Given the description of an element on the screen output the (x, y) to click on. 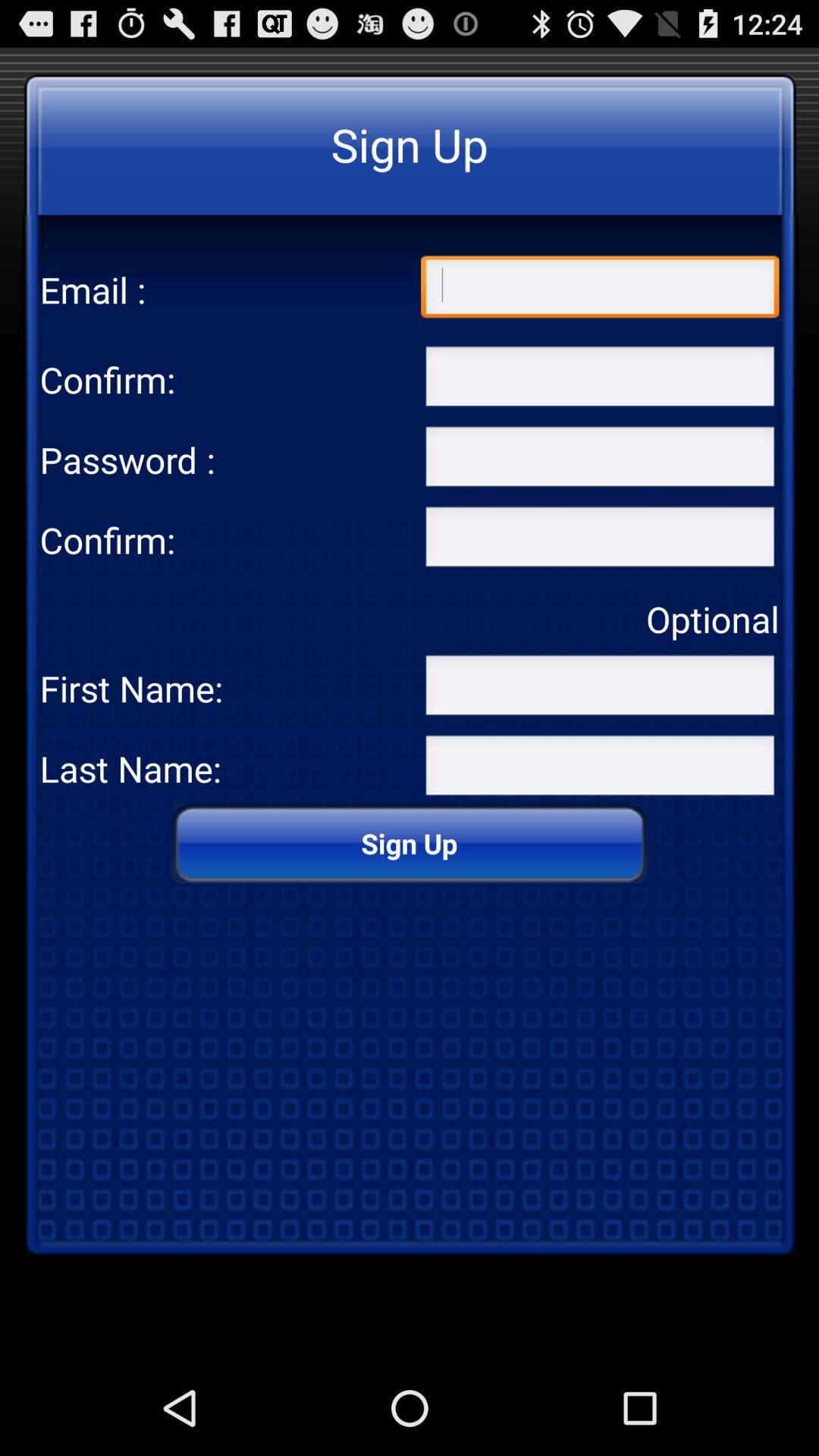
type the email address in the text box (599, 289)
